Given the description of an element on the screen output the (x, y) to click on. 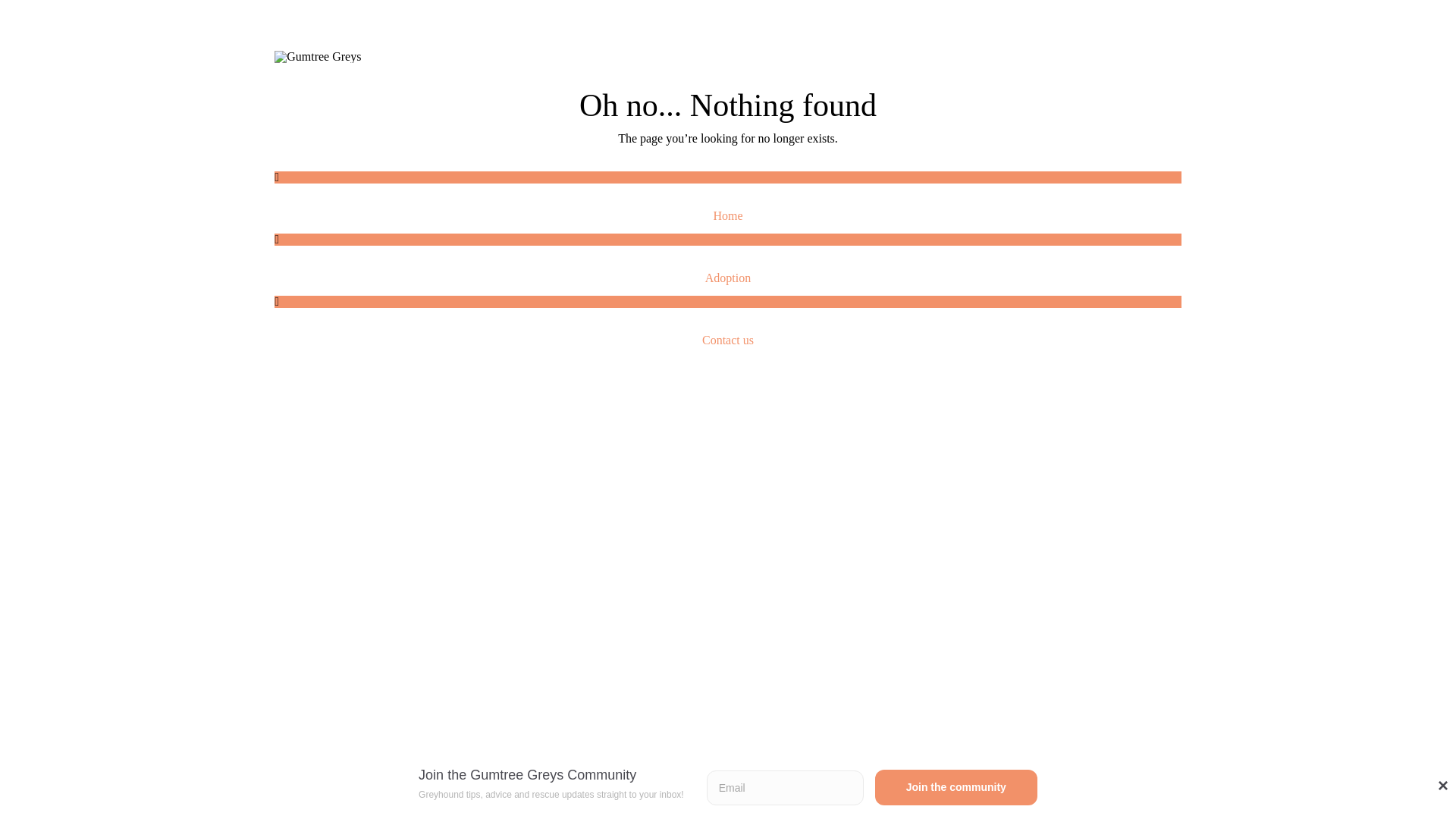
GumtreeGreys_Logo_white Element type: hover (317, 56)
Adoption Element type: text (727, 277)
Contact us Element type: text (727, 339)
Home Element type: text (727, 215)
